Given the description of an element on the screen output the (x, y) to click on. 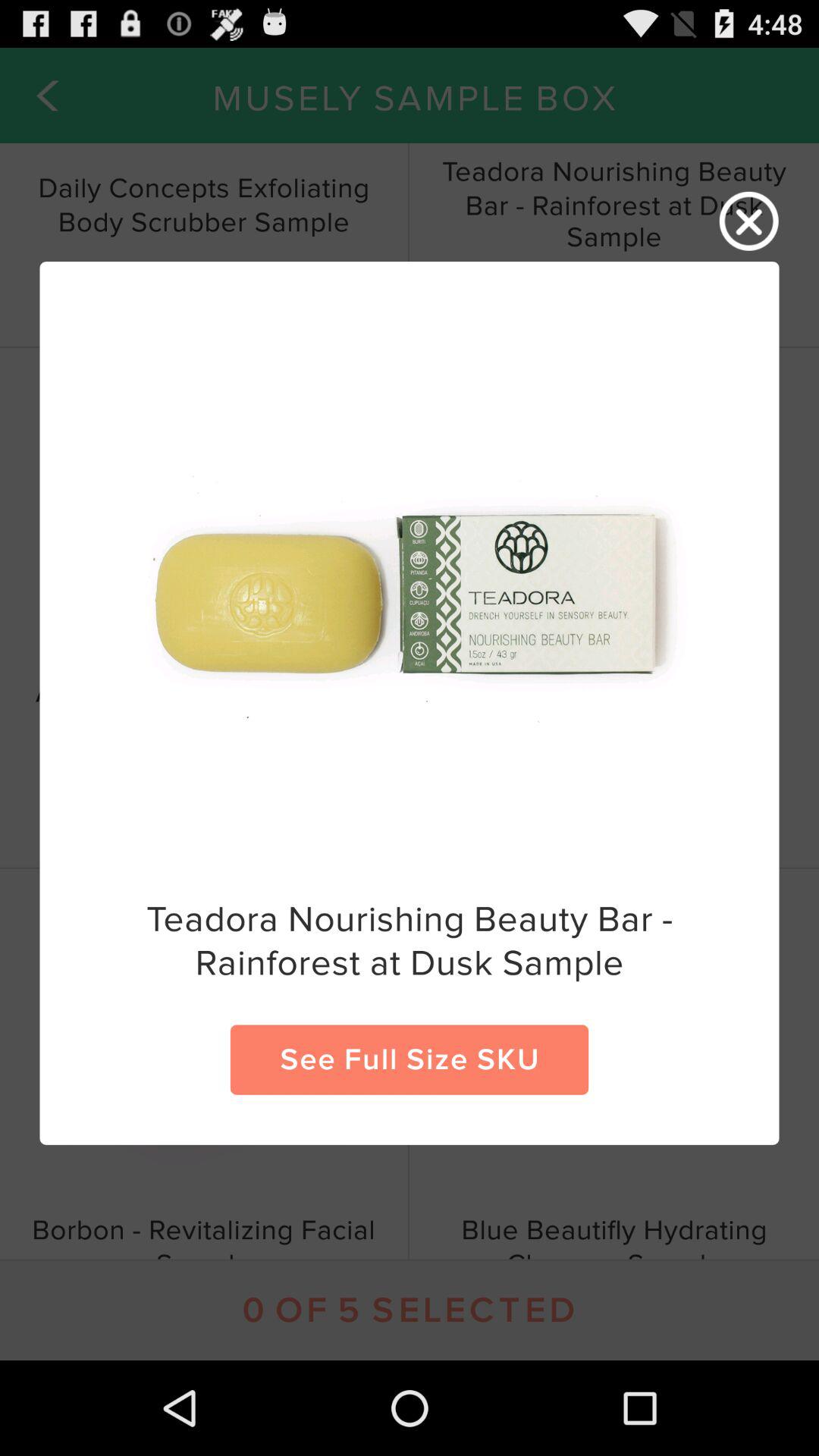
launch icon below the teadora nourishing beauty item (409, 1059)
